Given the description of an element on the screen output the (x, y) to click on. 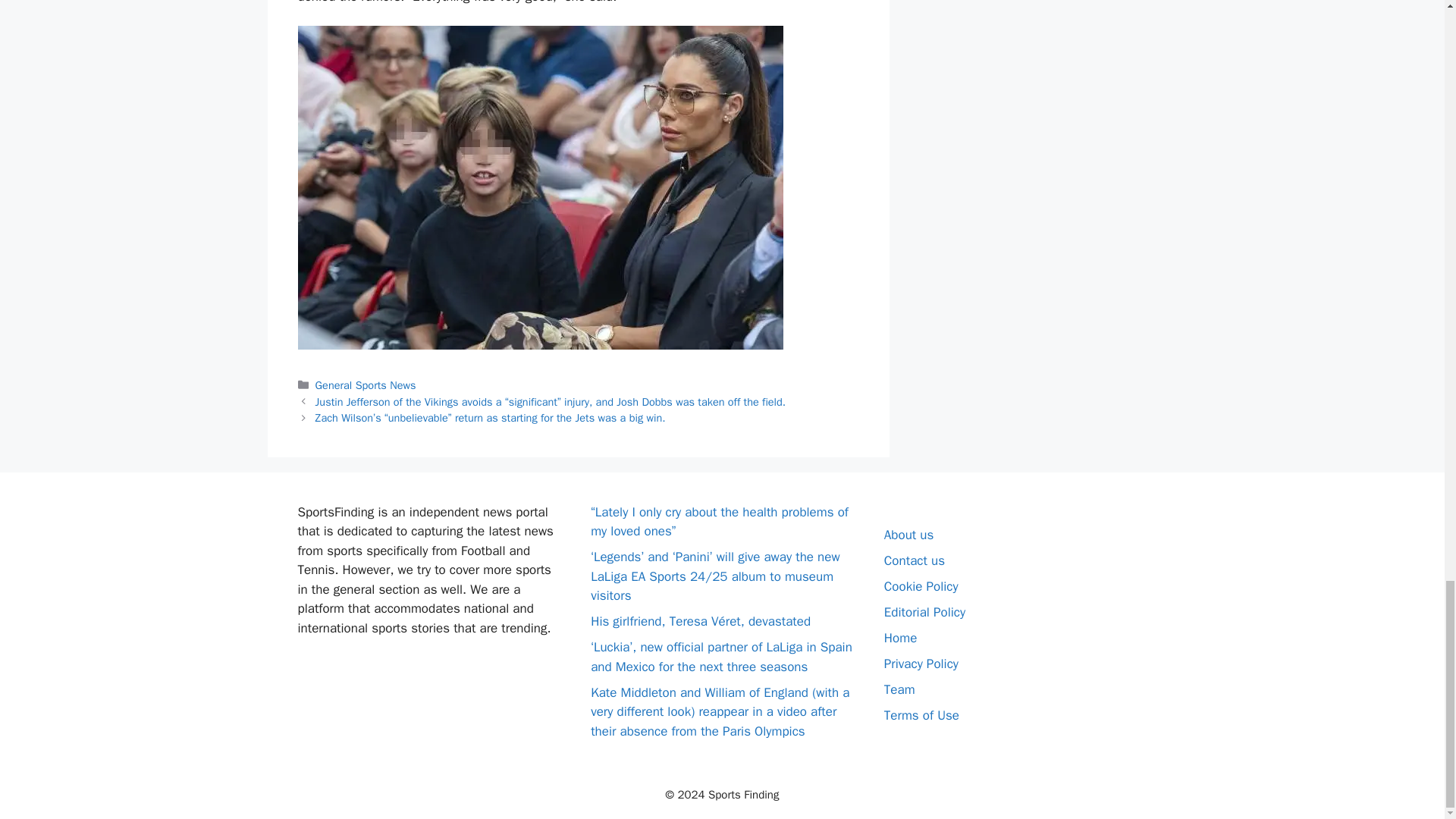
General Sports News (365, 385)
Contact us (913, 560)
Cookie Policy (920, 586)
About us (908, 534)
Editorial Policy (924, 611)
Home (900, 637)
